Given the description of an element on the screen output the (x, y) to click on. 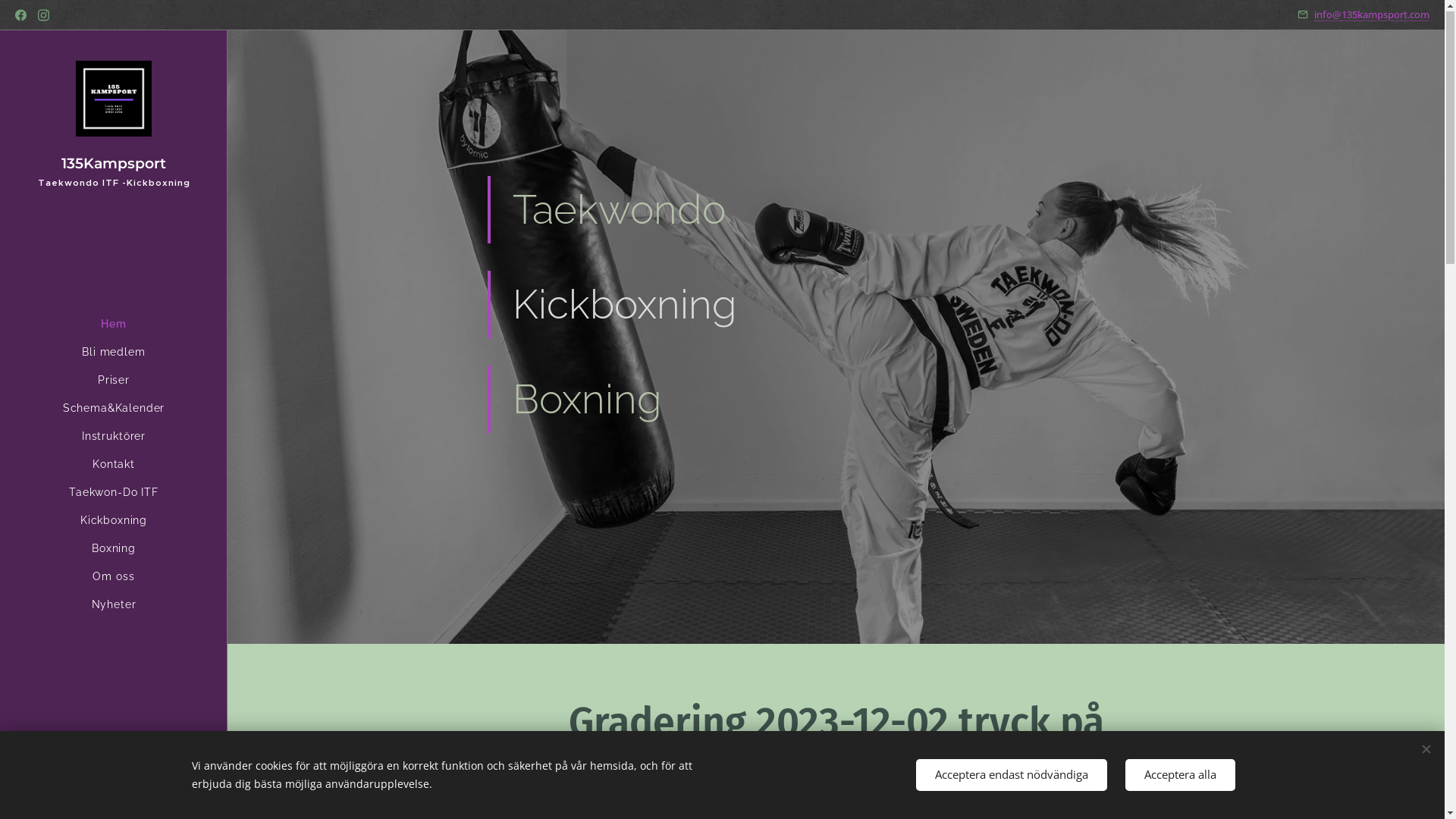
Instagram Element type: hover (43, 15)
Kontakt Element type: text (113, 464)
Bli medlem Element type: text (113, 352)
info@135kampsport.com Element type: text (1371, 14)
Om oss Element type: text (113, 577)
Acceptera alla Element type: text (1180, 774)
Nyheter Element type: text (113, 605)
Taekwon-Do ITF Element type: text (113, 493)
Boxning Element type: text (113, 549)
Cookies Element type: text (113, 796)
Priser Element type: text (113, 380)
Facebook Element type: hover (20, 15)
Schema&Kalender Element type: text (113, 408)
Kickboxning Element type: text (113, 521)
Hem Element type: text (113, 324)
